Given the description of an element on the screen output the (x, y) to click on. 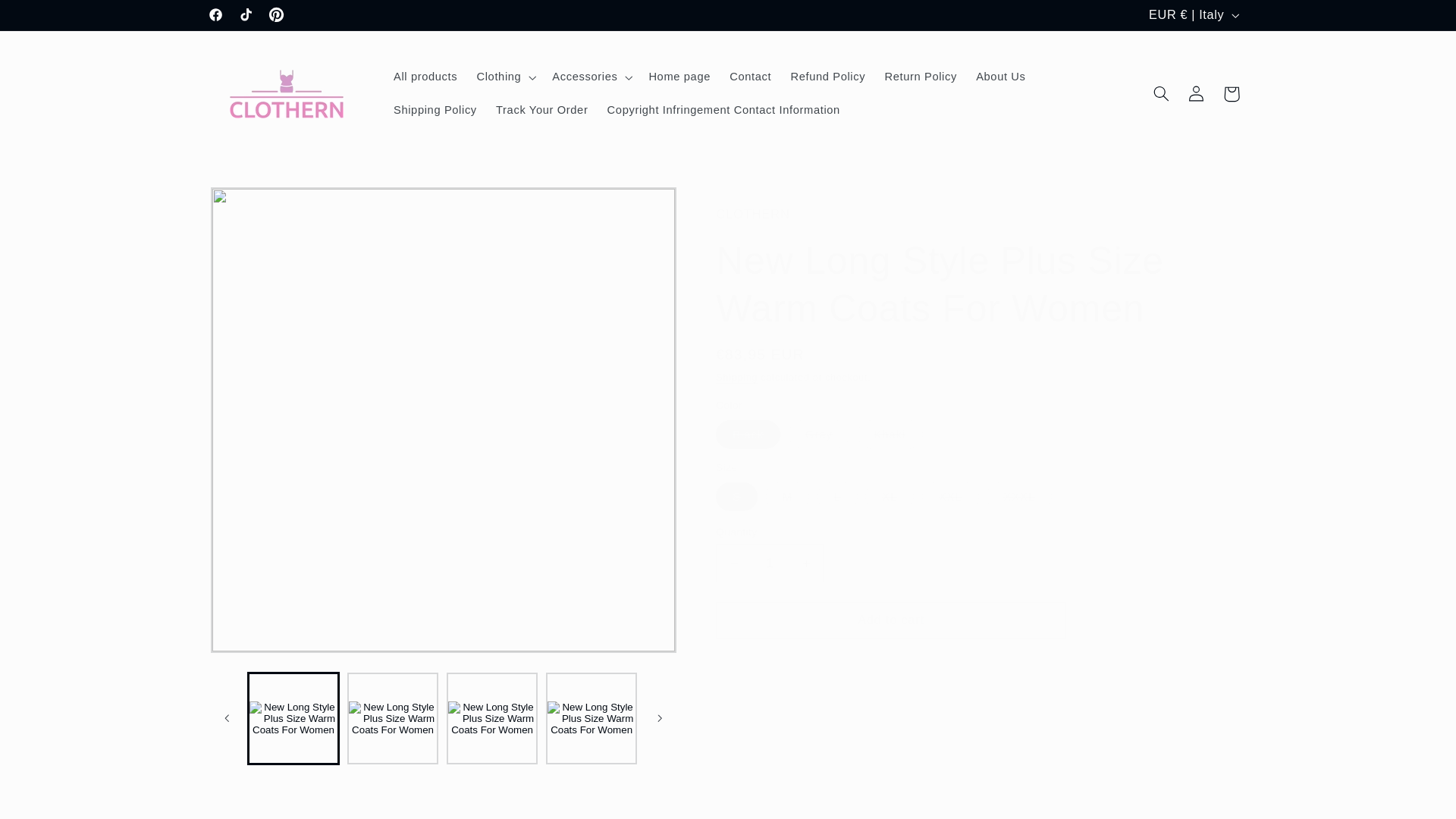
Facebook (215, 15)
TikTok (246, 15)
1 (770, 562)
Skip to content (48, 18)
Pinterest (277, 15)
